Given the description of an element on the screen output the (x, y) to click on. 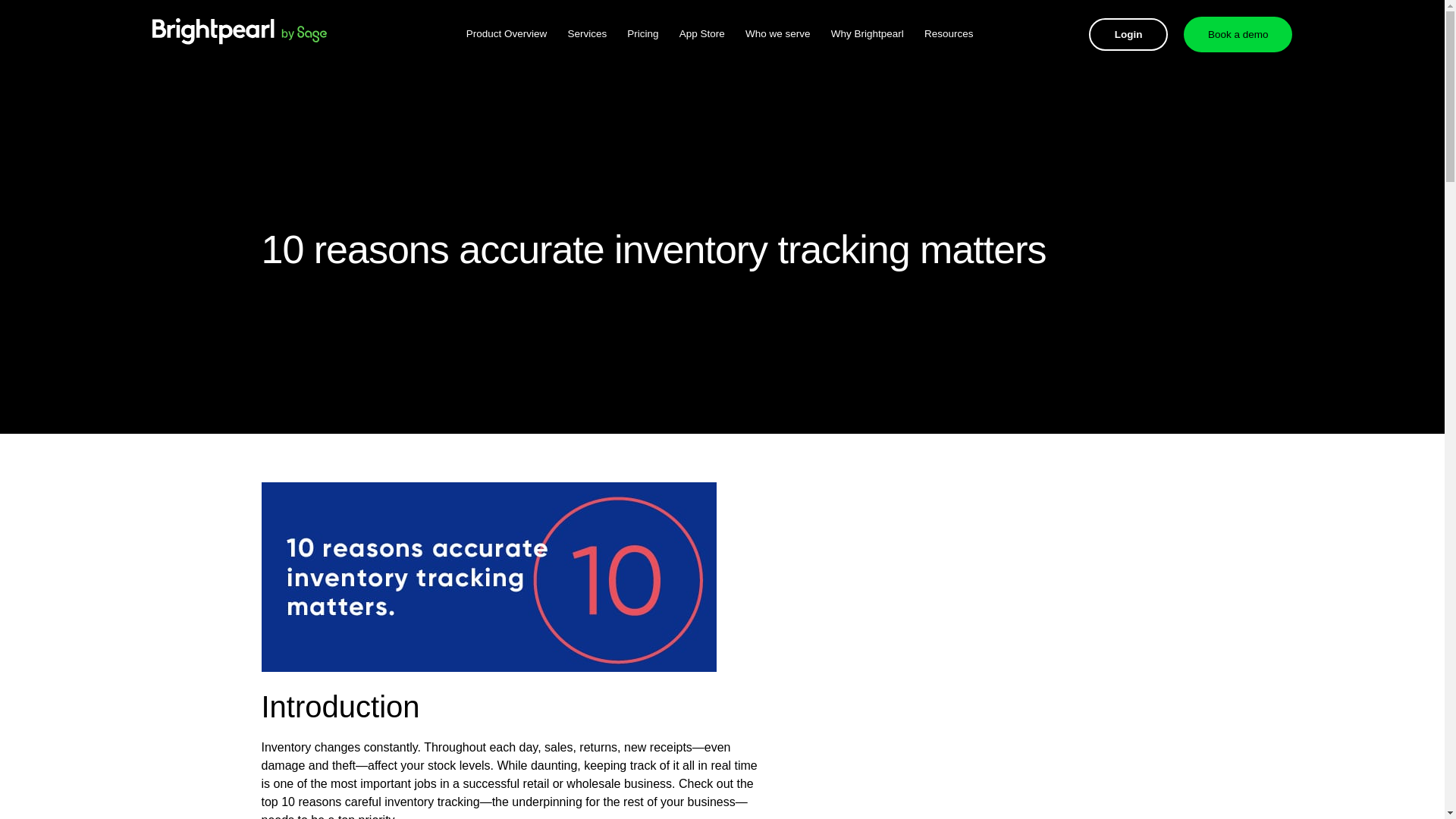
Pricing (642, 33)
Services (587, 33)
Product Overview (506, 33)
Who we serve (777, 33)
Resources (949, 33)
App Store (702, 33)
Why Brightpearl (867, 33)
